Given the description of an element on the screen output the (x, y) to click on. 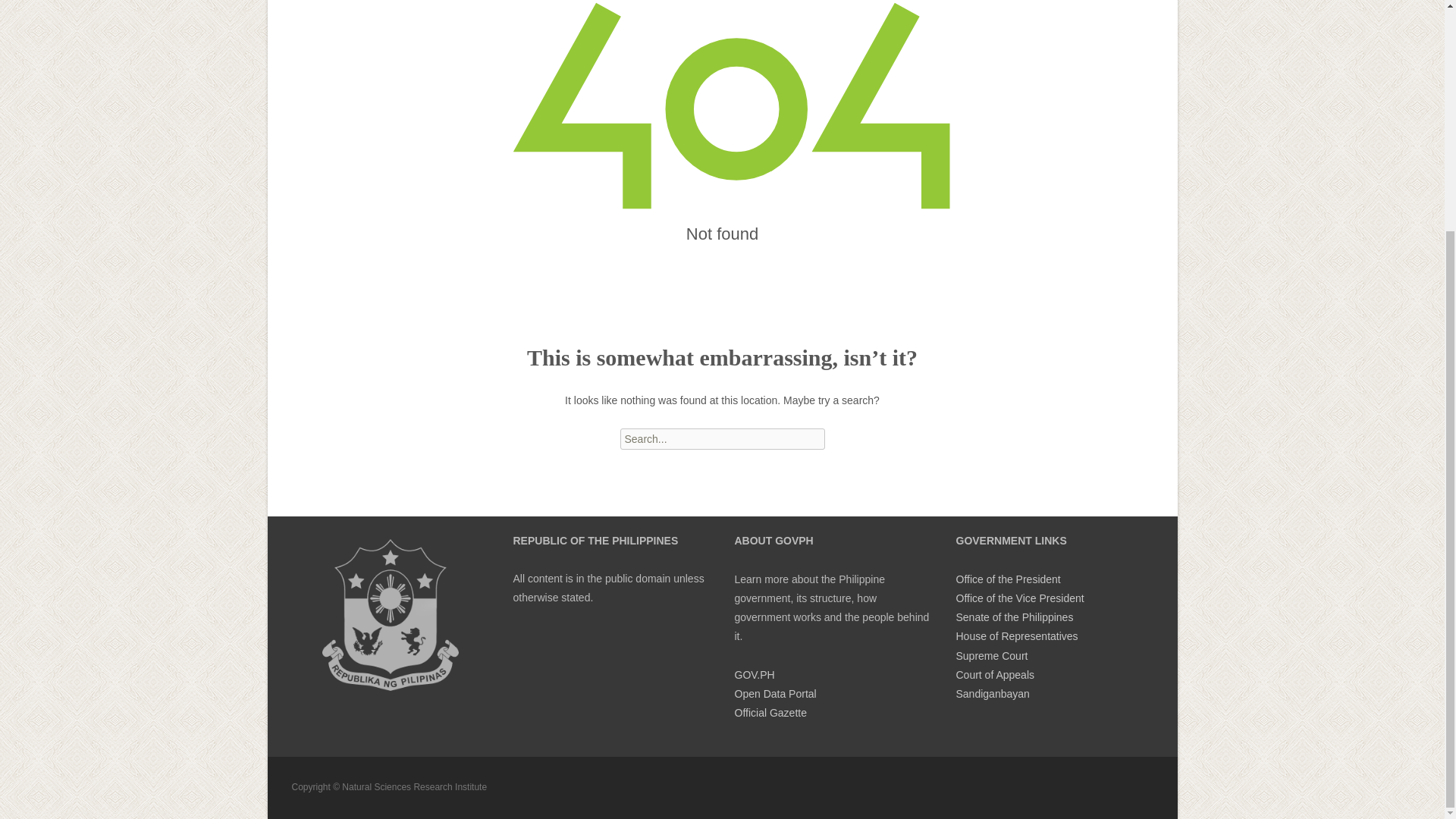
Senate of the Philippines (1014, 616)
House of Representatives (1016, 635)
Office of the President (1007, 579)
Search for: (722, 438)
Supreme Court (991, 655)
Office of the Vice President (1019, 598)
Open Data Portal (774, 693)
Sandiganbayan (992, 693)
Official Gazette (769, 712)
GOV.PH (753, 674)
